Given the description of an element on the screen output the (x, y) to click on. 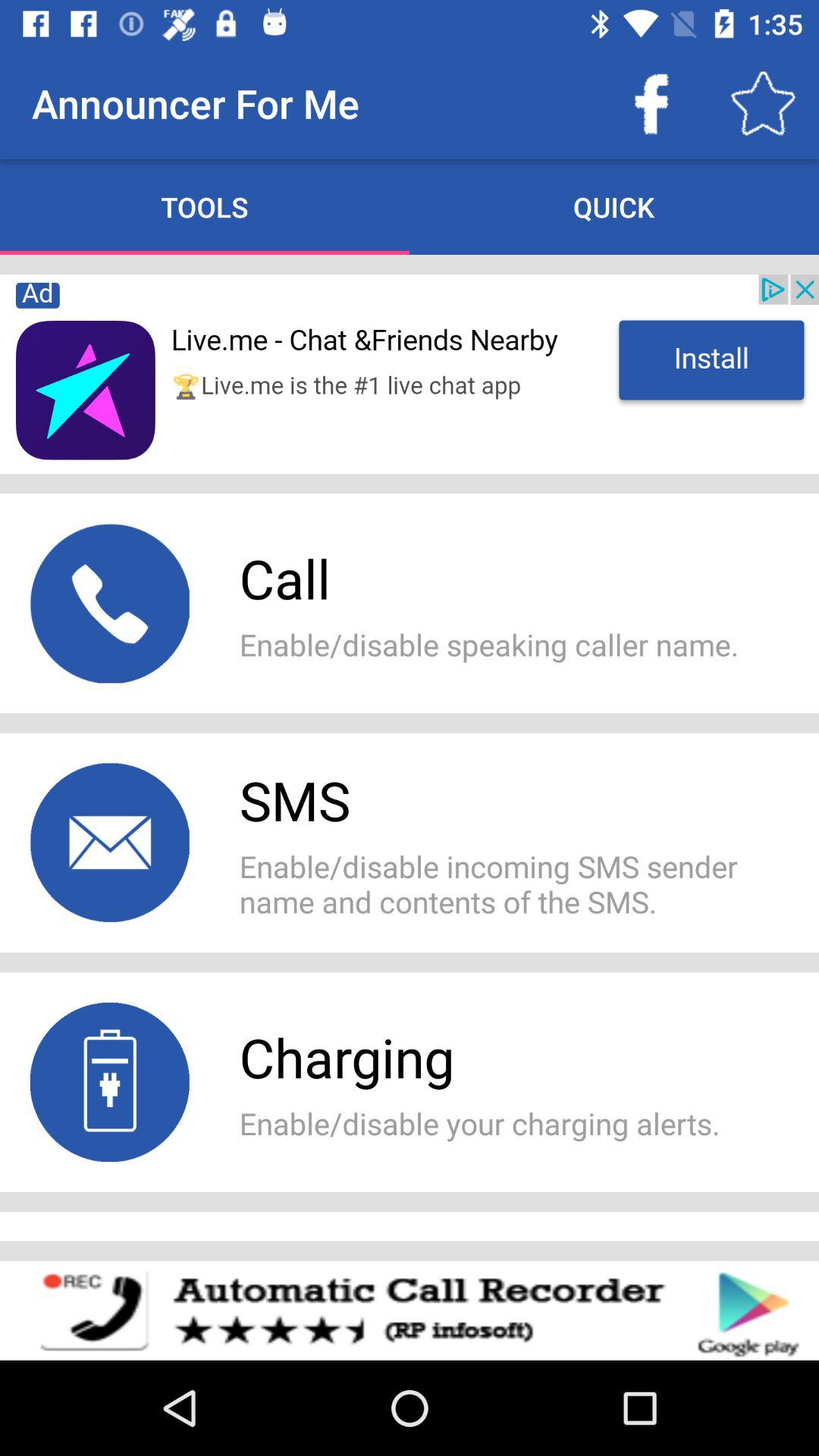
advertisement link (409, 373)
